Given the description of an element on the screen output the (x, y) to click on. 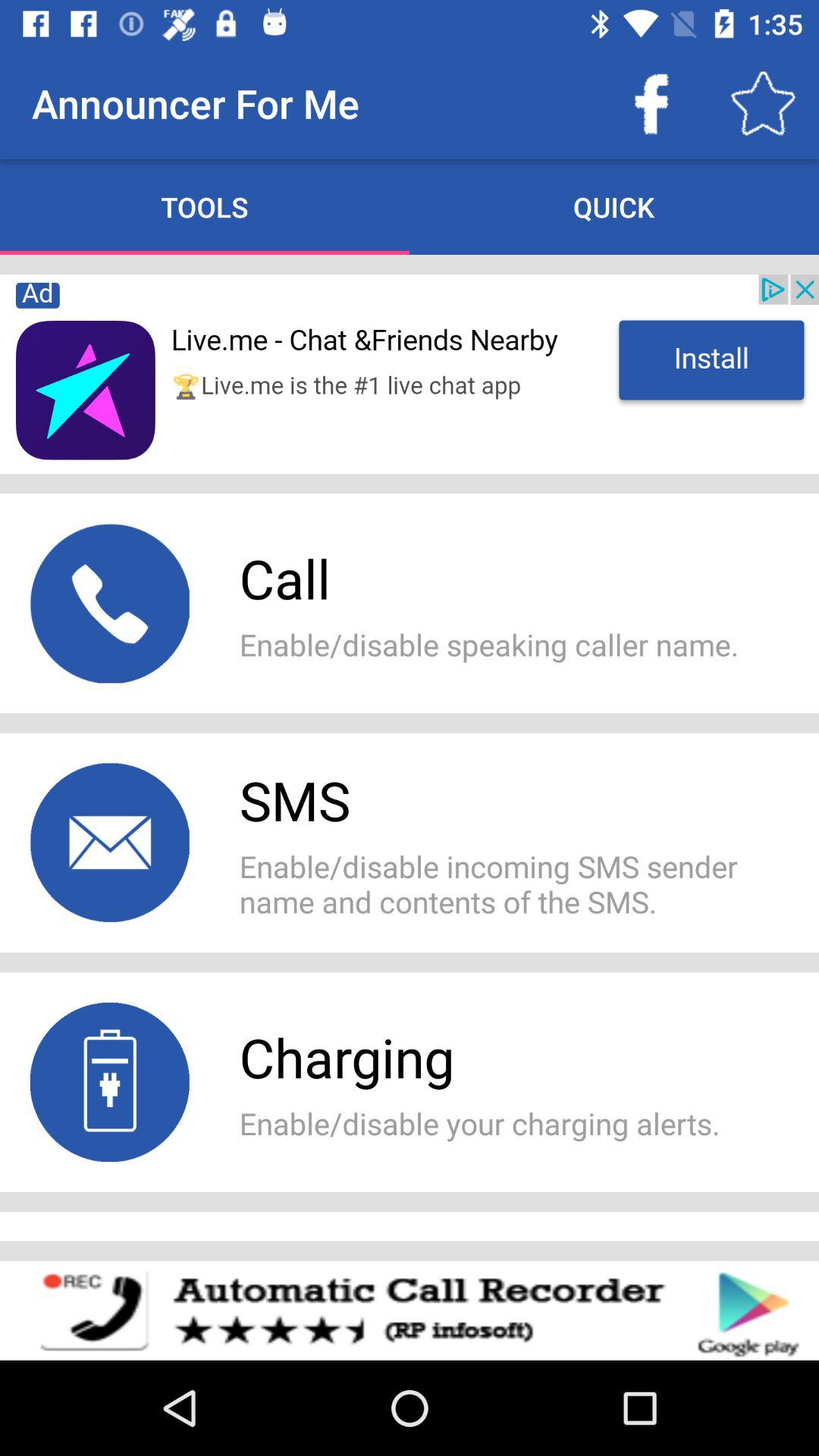
advertisement link (409, 373)
